Given the description of an element on the screen output the (x, y) to click on. 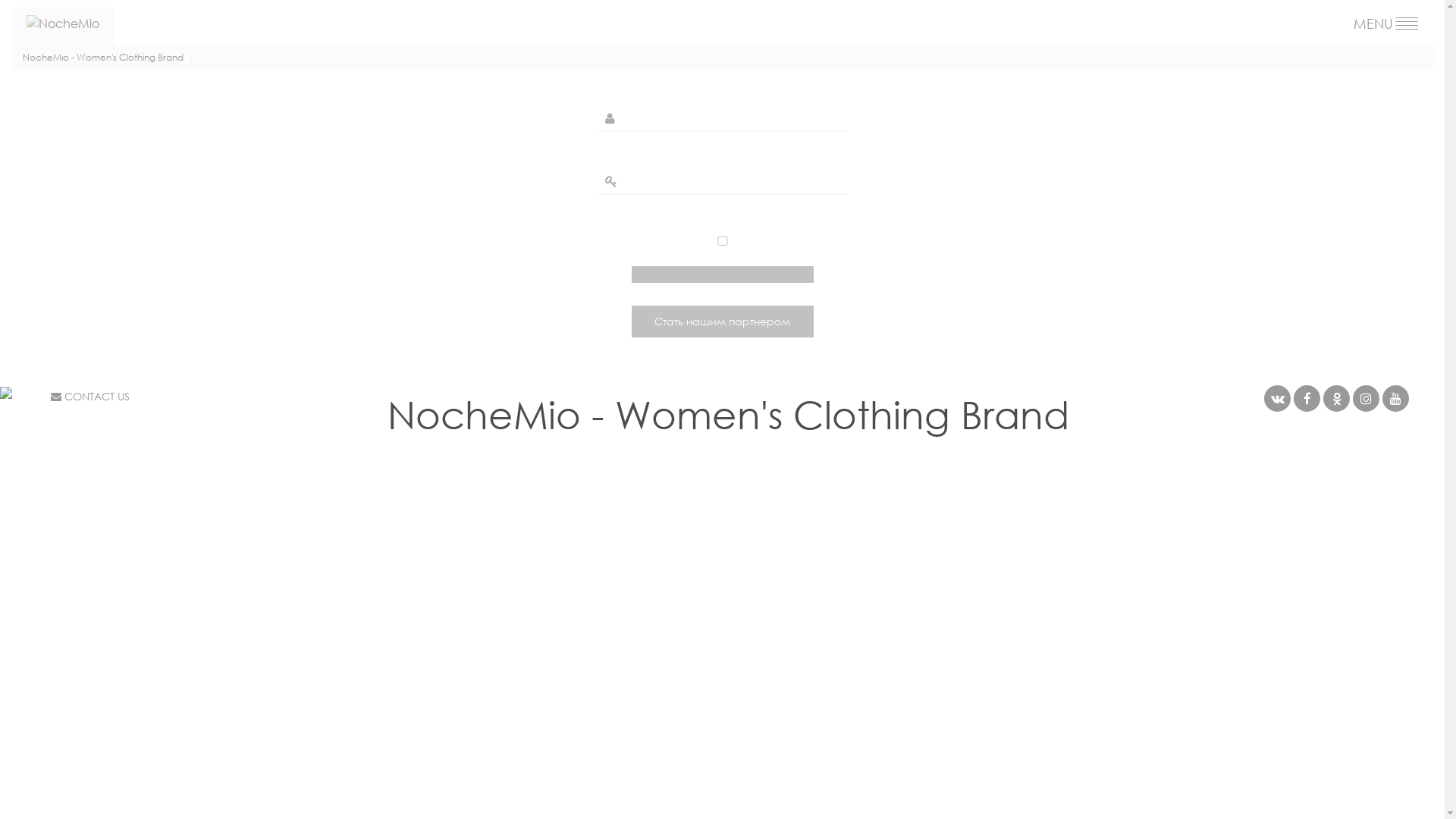
Official account NocheMio in Facebook Element type: hover (1306, 398)
Official account NocheMio in Youtube Element type: hover (1395, 398)
CONTACT US Element type: text (89, 396)
NocheMio - Women's Clothing Brand Element type: text (102, 56)
Official account NocheMio in VKontakte Element type: hover (1277, 398)
MENU Element type: text (1385, 23)
Official account NocheMio in Odnoklassniki Element type: hover (1336, 398)
Official account NocheMio in Instagram Element type: hover (1365, 398)
